Given the description of an element on the screen output the (x, y) to click on. 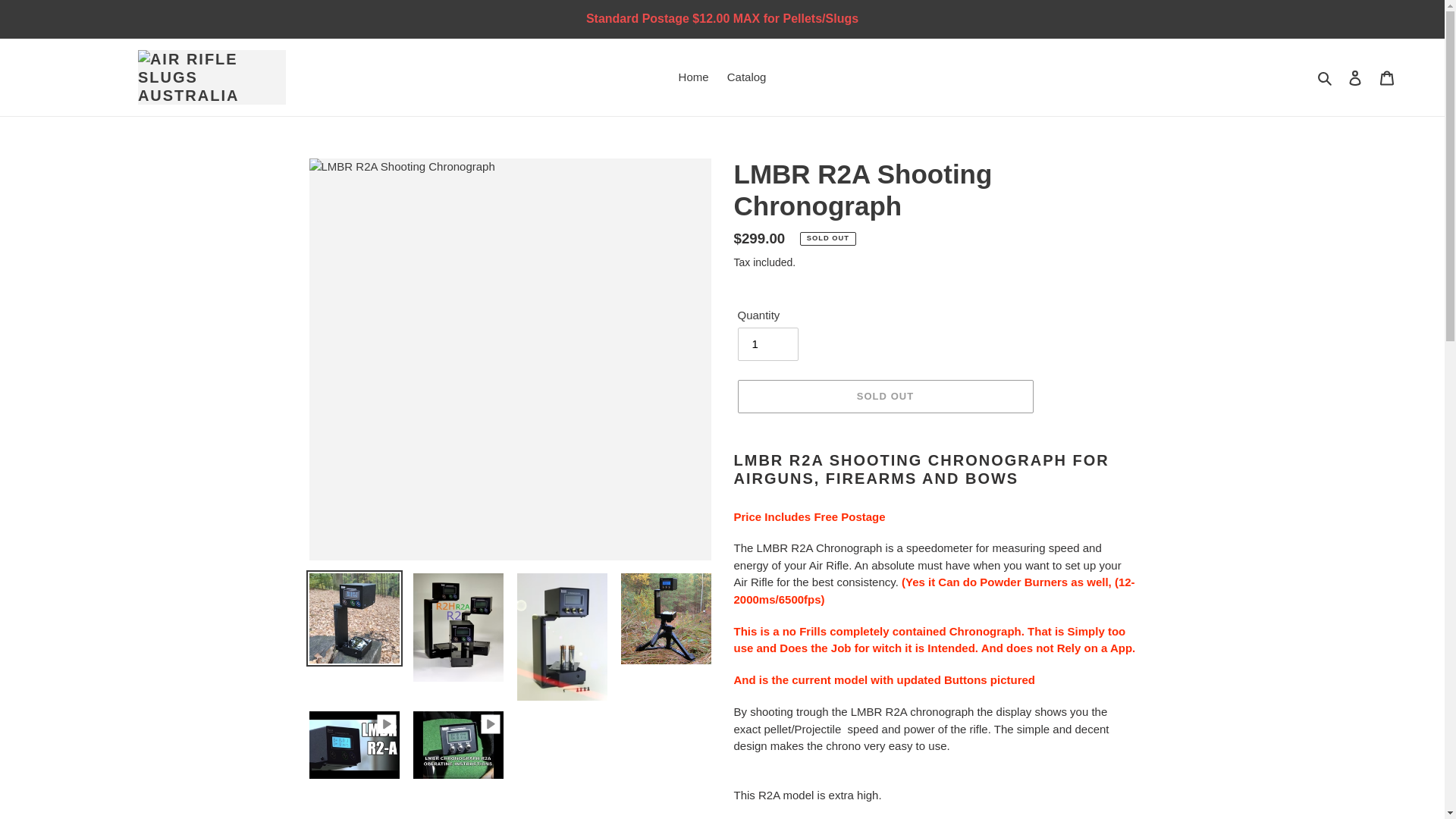
SOLD OUT (884, 396)
1 (766, 344)
Log in (1355, 77)
Cart (1387, 77)
Home (693, 77)
Search (1326, 76)
Catalog (746, 77)
